Given the description of an element on the screen output the (x, y) to click on. 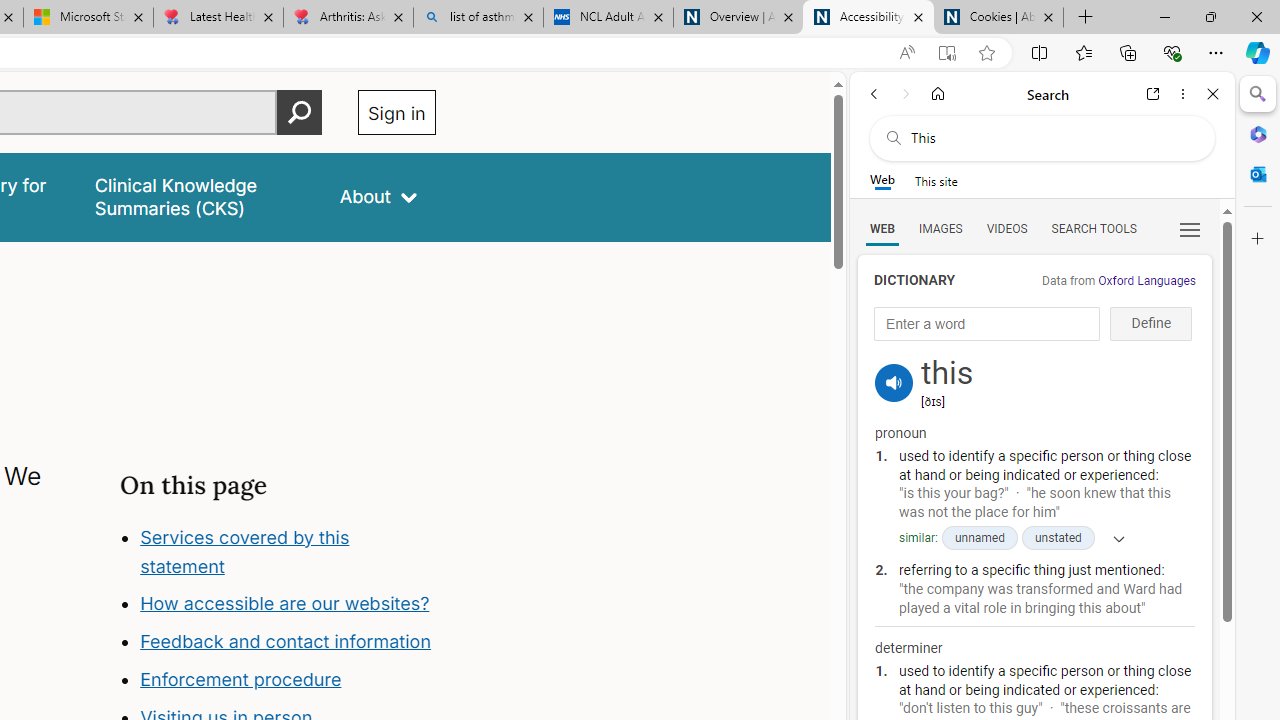
Link for logging (893, 359)
Feedback and contact information (287, 642)
Feedback and contact information (285, 641)
Enforcement procedure (240, 679)
How accessible are our websites? (287, 604)
unstated (1057, 538)
Oxford Languages (1146, 281)
